Given the description of an element on the screen output the (x, y) to click on. 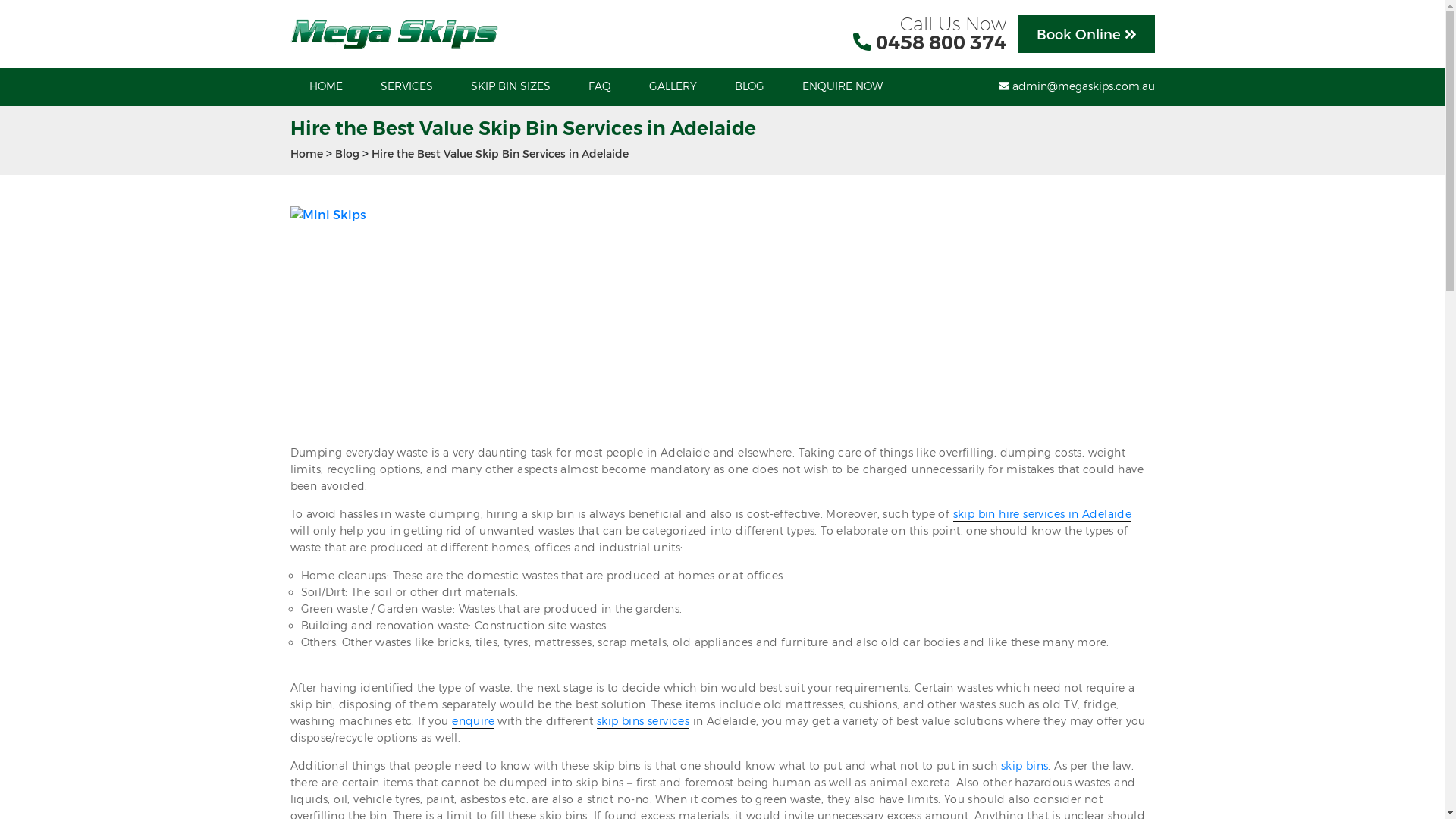
FAQ Element type: text (598, 87)
0458 800 374 Element type: text (940, 42)
skip bins services Element type: text (642, 721)
GALLERY Element type: text (672, 87)
admin@megaskips.com.au Element type: text (1075, 87)
SERVICES Element type: text (405, 87)
SKIP BIN SIZES Element type: text (510, 87)
Blog Element type: text (347, 154)
BLOG Element type: text (749, 87)
Home Element type: text (305, 154)
skip bin hire services in Adelaide Element type: text (1042, 514)
skip bins Element type: text (1024, 766)
enquire Element type: text (472, 721)
Book Online Element type: text (1085, 34)
HOME Element type: text (324, 87)
ENQUIRE NOW Element type: text (841, 87)
